Given the description of an element on the screen output the (x, y) to click on. 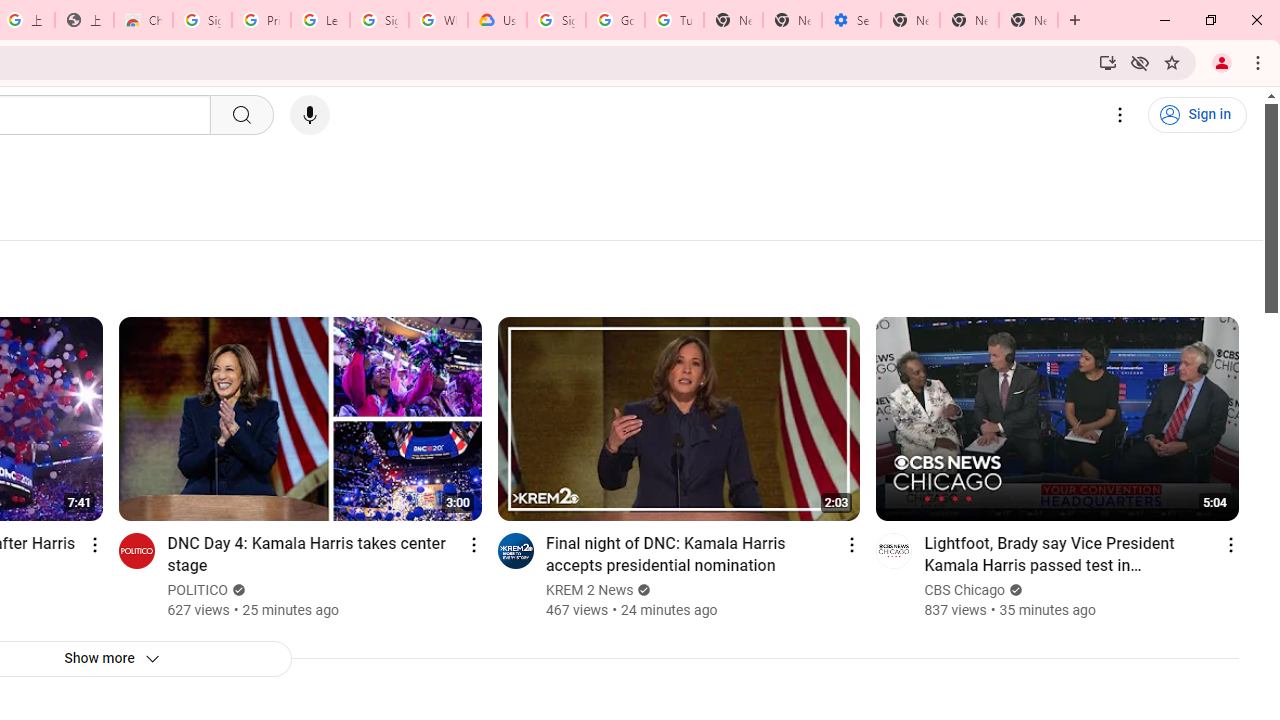
Search with your voice (309, 115)
Google Account Help (615, 20)
Action menu (1229, 544)
Go to channel (893, 550)
New Tab (909, 20)
